Given the description of an element on the screen output the (x, y) to click on. 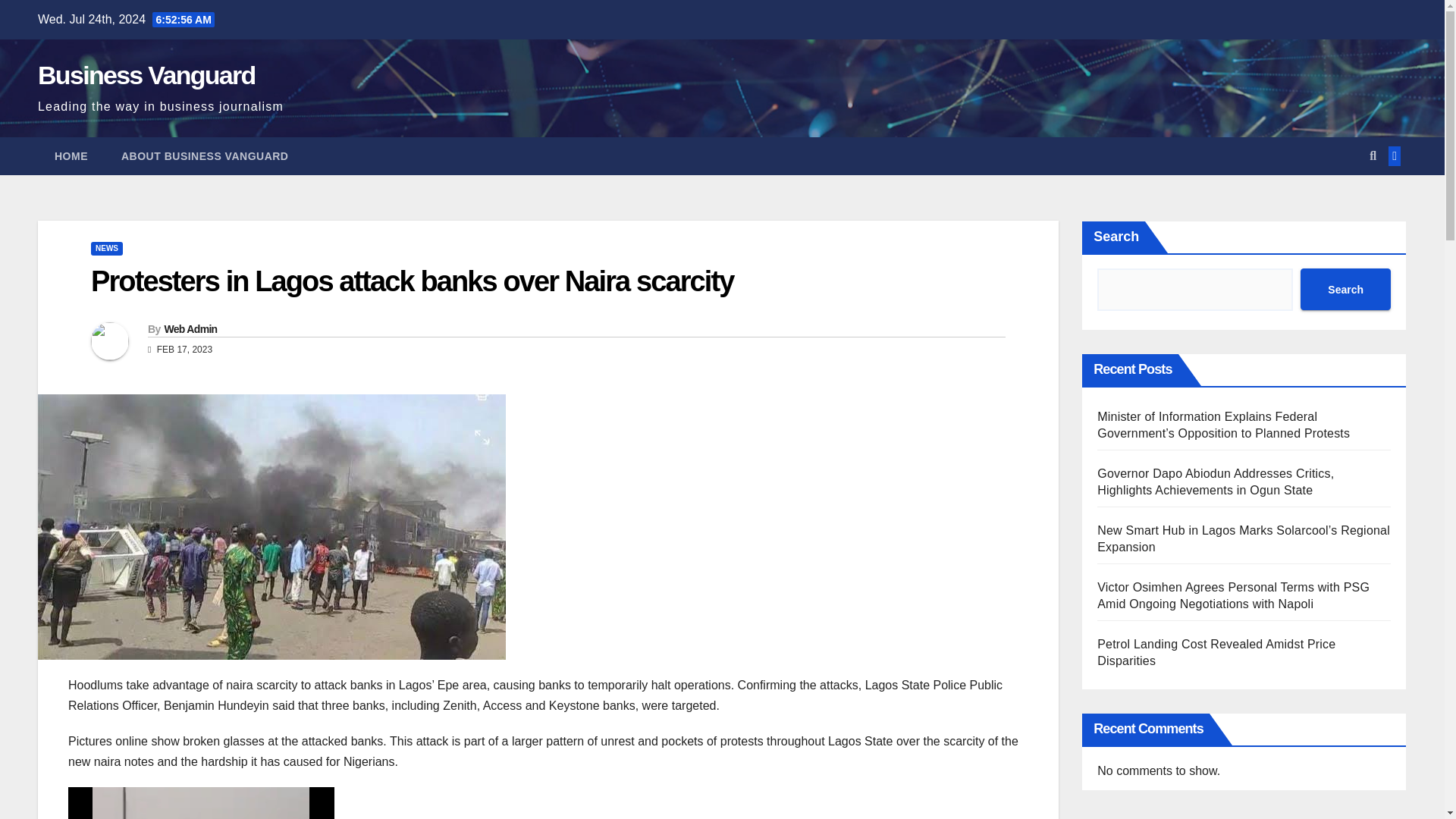
ABOUT BUSINESS VANGUARD (204, 156)
Business Vanguard (146, 74)
Protesters in Lagos attack banks over Naira scarcity (411, 281)
Home (70, 156)
HOME (70, 156)
Search (1345, 289)
NEWS (106, 248)
Web Admin (189, 328)
